Given the description of an element on the screen output the (x, y) to click on. 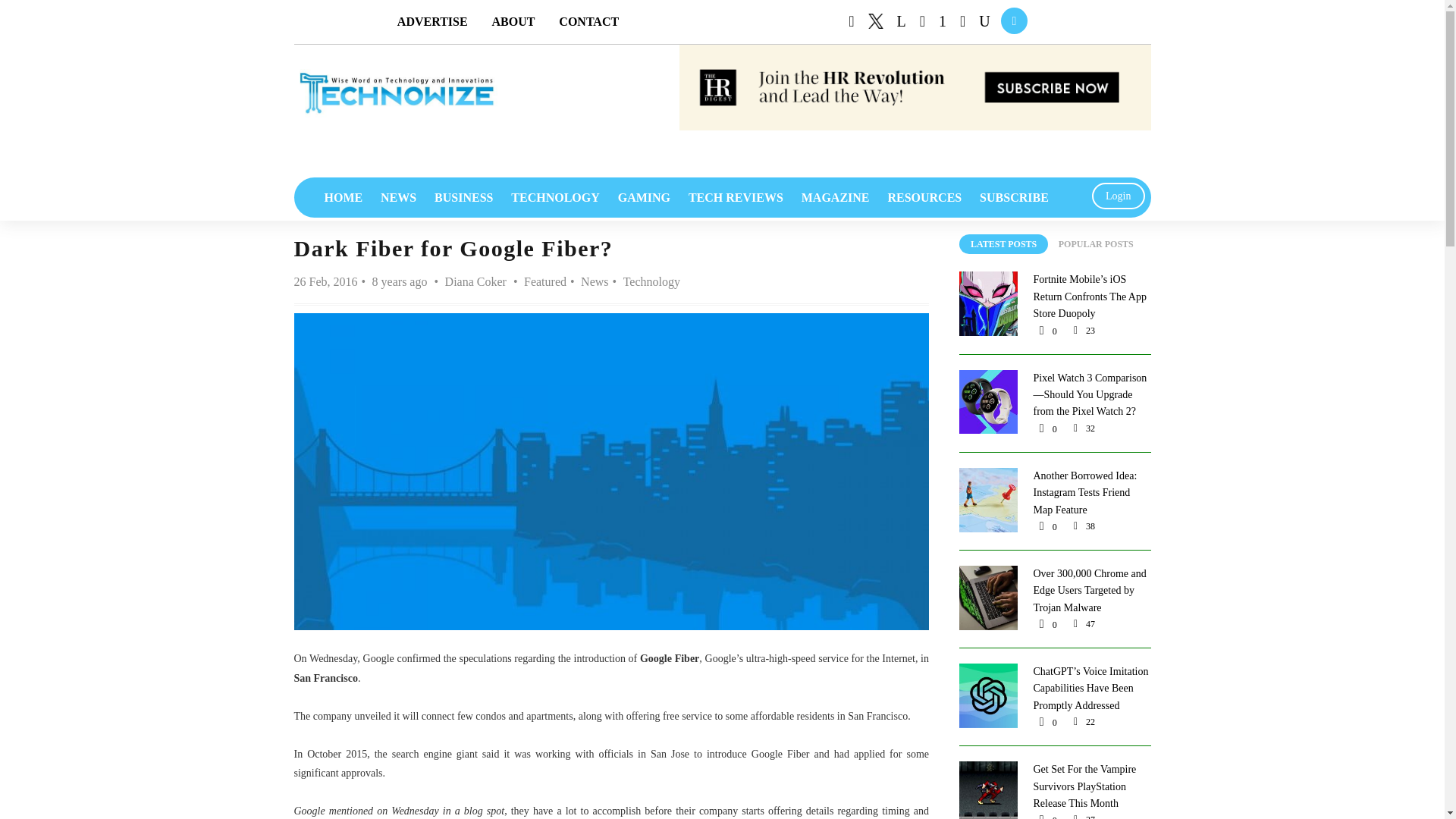
HOME (344, 197)
CONTACT (588, 21)
ADVERTISE (432, 21)
Technowize (396, 92)
ABOUT (513, 21)
